Given the description of an element on the screen output the (x, y) to click on. 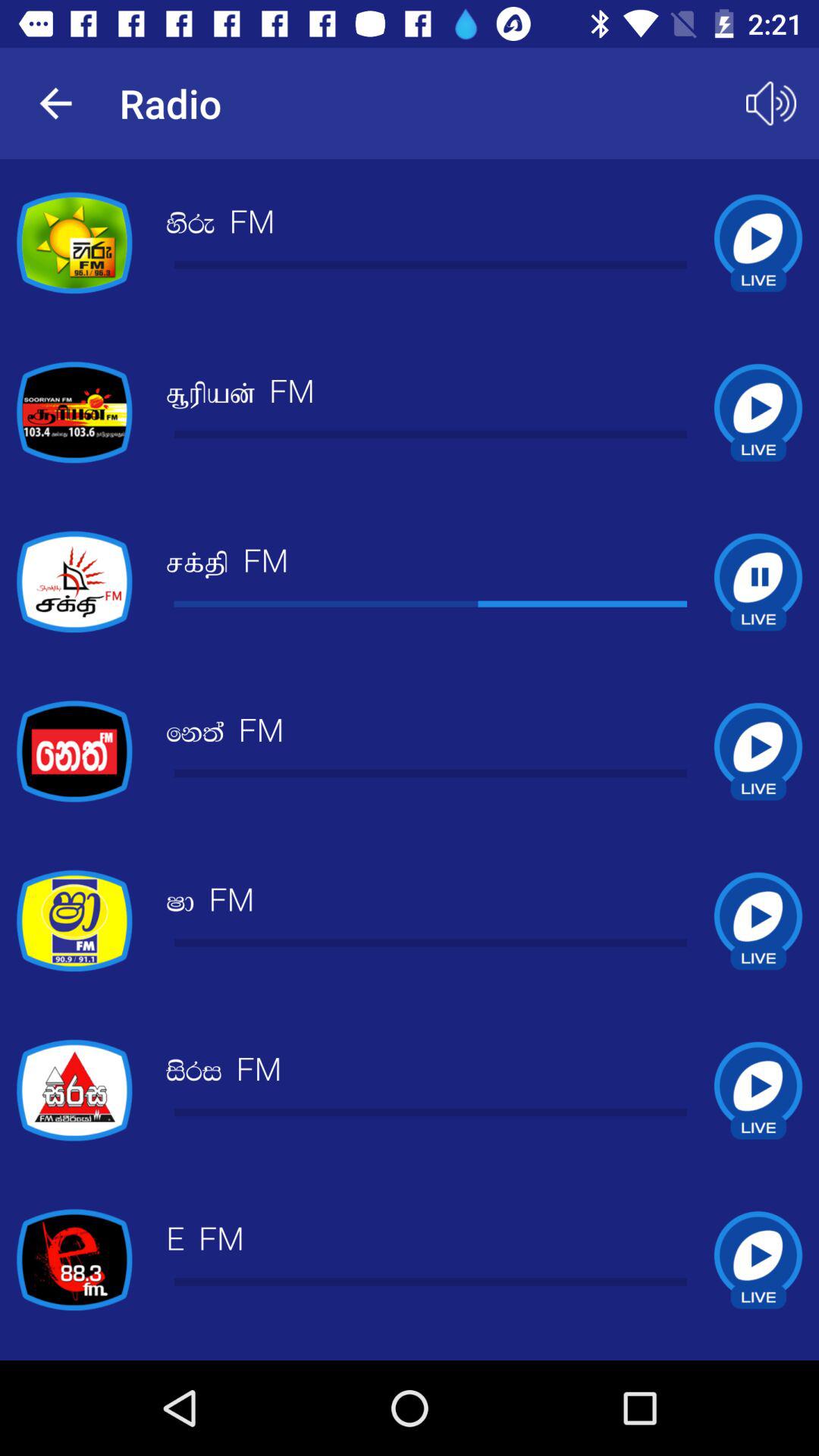
choose the item next to radio icon (771, 103)
